Given the description of an element on the screen output the (x, y) to click on. 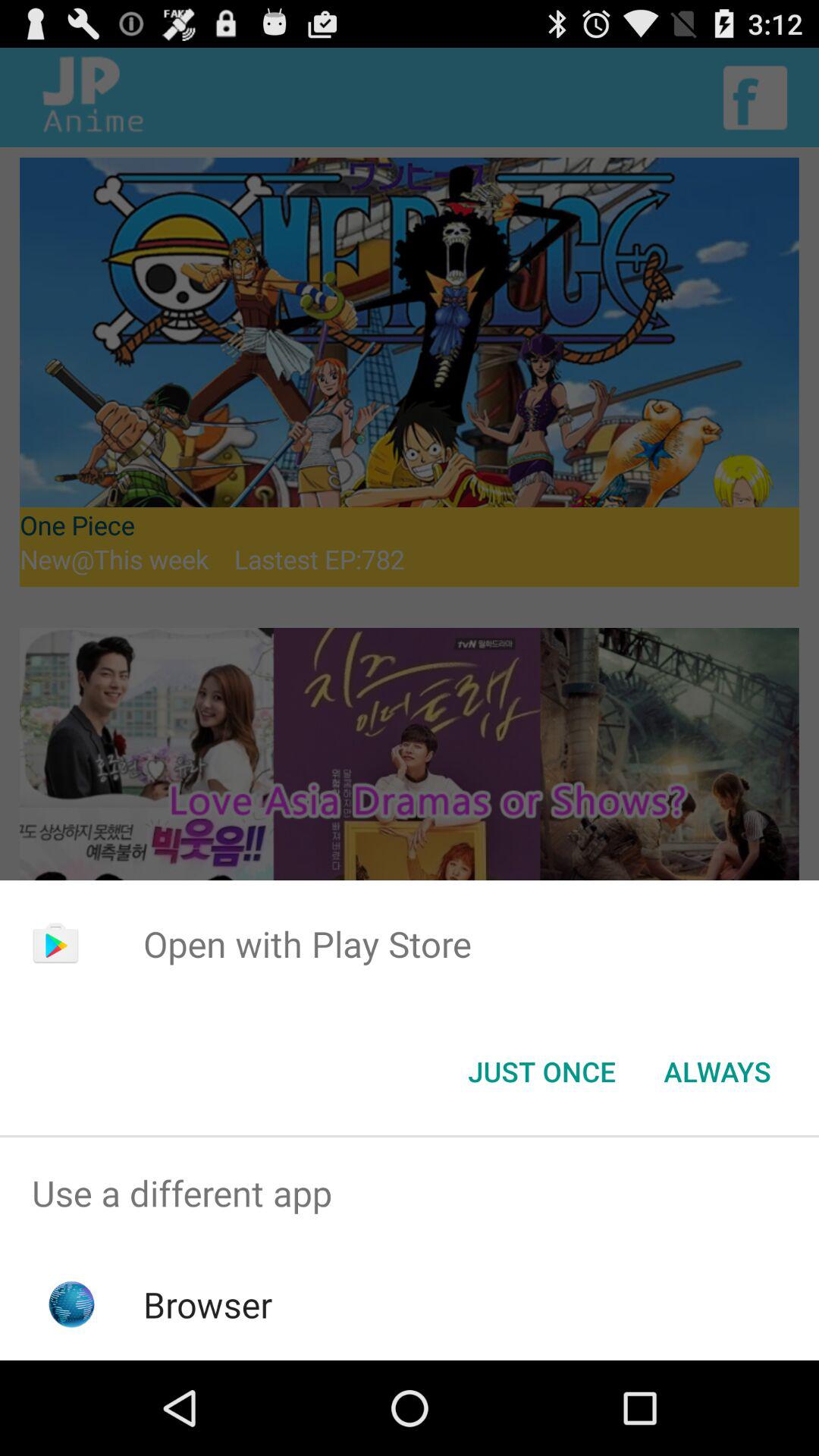
click the item below the open with play (541, 1071)
